Given the description of an element on the screen output the (x, y) to click on. 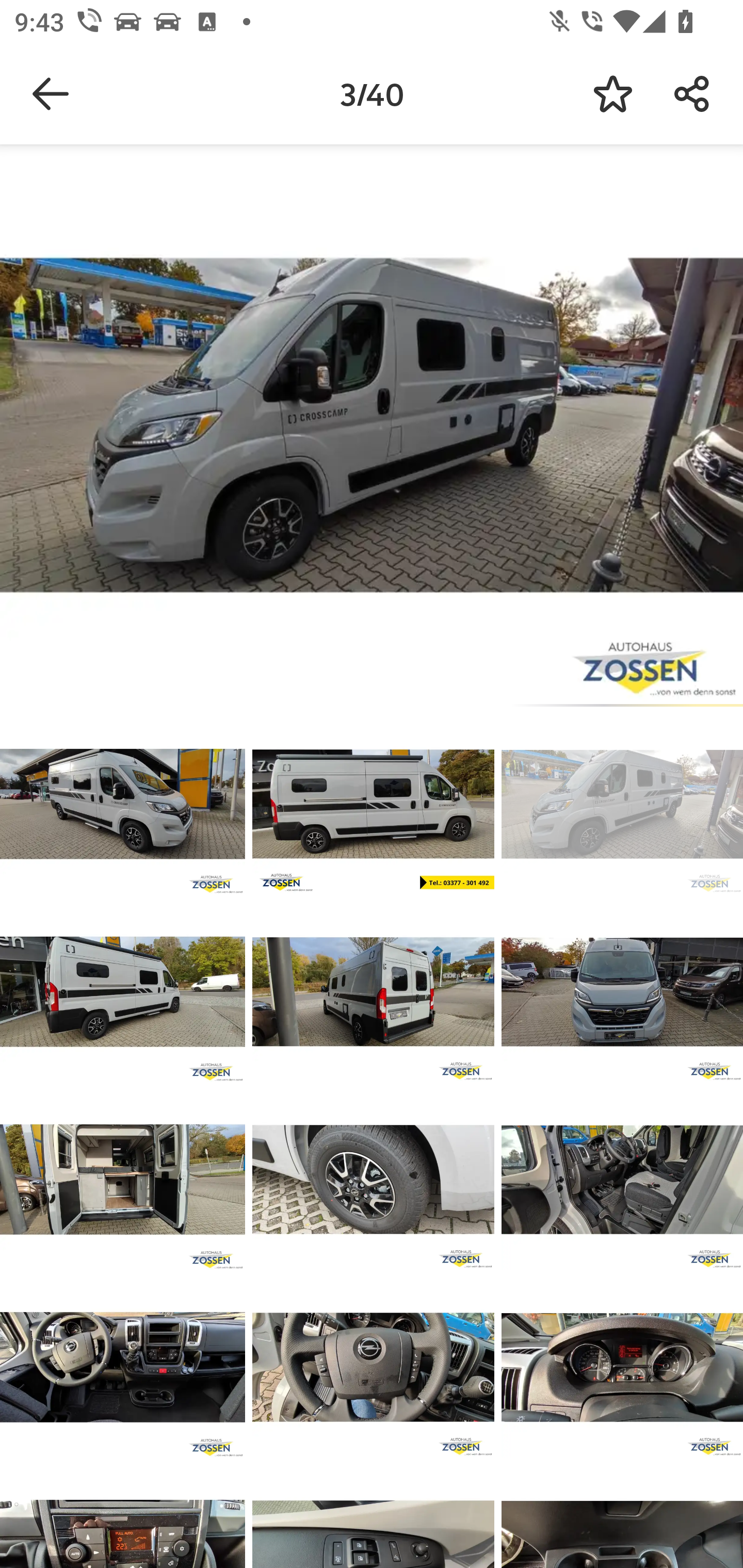
back button (50, 93)
share button (692, 93)
main image view (371, 428)
image (122, 803)
image (373, 803)
image (622, 803)
image (122, 991)
image (373, 991)
image (622, 991)
image (122, 1179)
image (373, 1179)
image (622, 1179)
image (122, 1367)
image (373, 1367)
image (622, 1367)
